Given the description of an element on the screen output the (x, y) to click on. 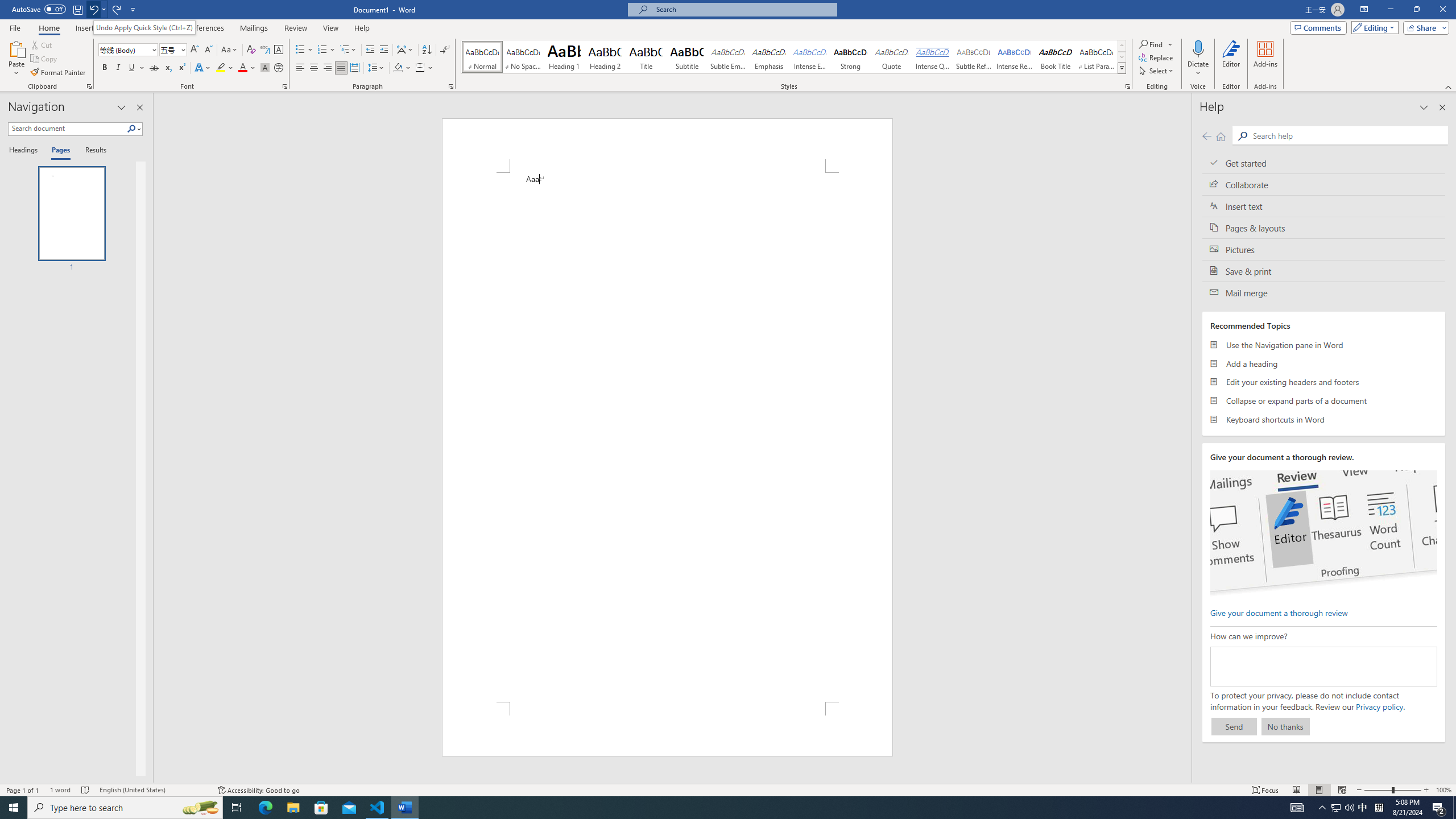
Pages & layouts (1323, 228)
Page 1 content (667, 436)
Undo Apply Quick Style (96, 9)
Font Color Red (241, 67)
Edit your existing headers and footers (1323, 381)
Add a heading (1323, 363)
Zoom 100% (1443, 790)
